Given the description of an element on the screen output the (x, y) to click on. 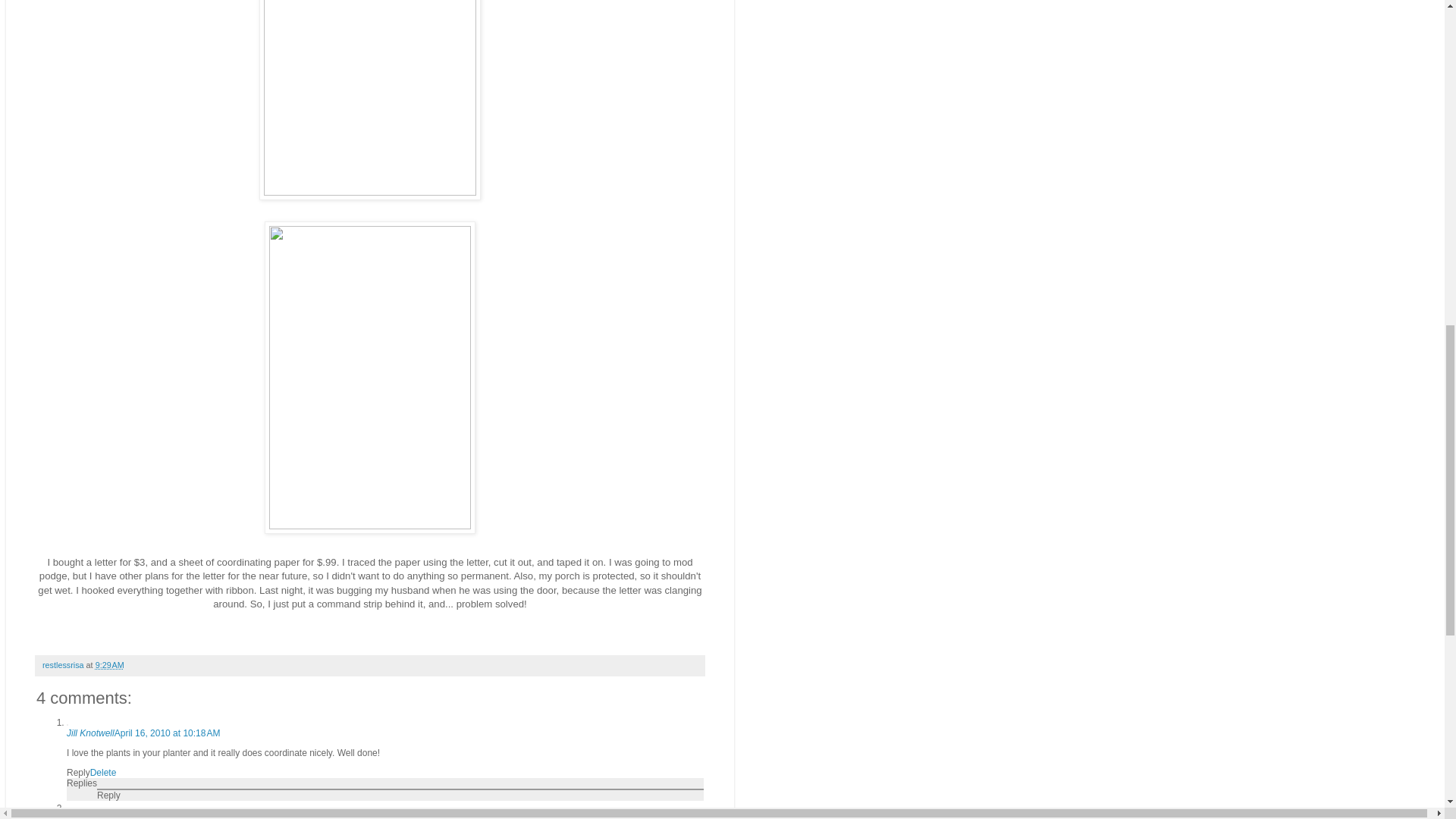
Delete (103, 772)
permanent link (109, 664)
Reply (78, 772)
restlessrisa (63, 664)
Replies (81, 783)
author profile (63, 664)
Reply (108, 795)
Brooke (81, 816)
Jill Knotwell (90, 733)
